Given the description of an element on the screen output the (x, y) to click on. 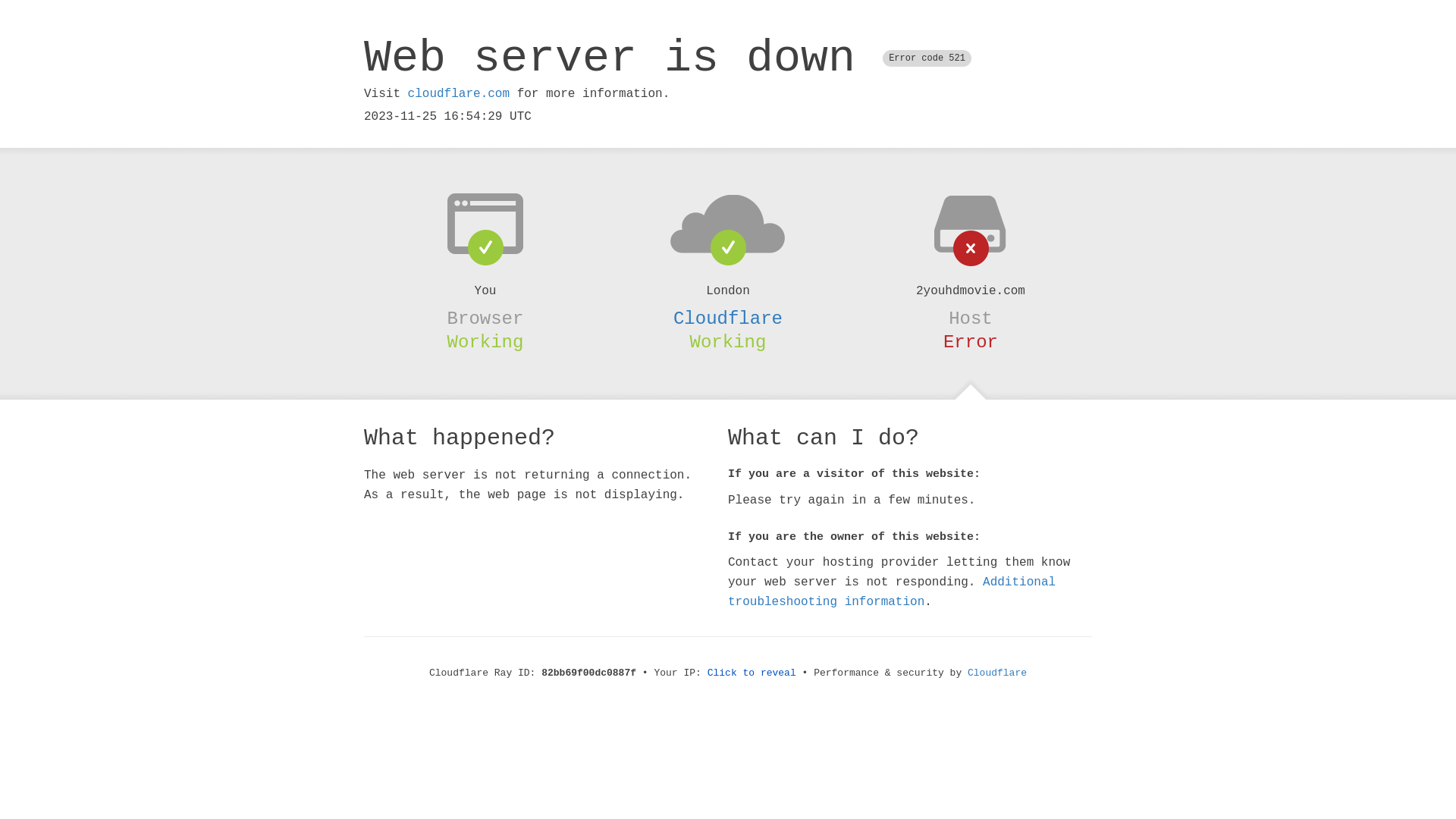
Cloudflare Element type: text (996, 672)
Cloudflare Element type: text (727, 318)
Click to reveal Element type: text (751, 672)
Additional troubleshooting information Element type: text (891, 591)
cloudflare.com Element type: text (458, 93)
